Given the description of an element on the screen output the (x, y) to click on. 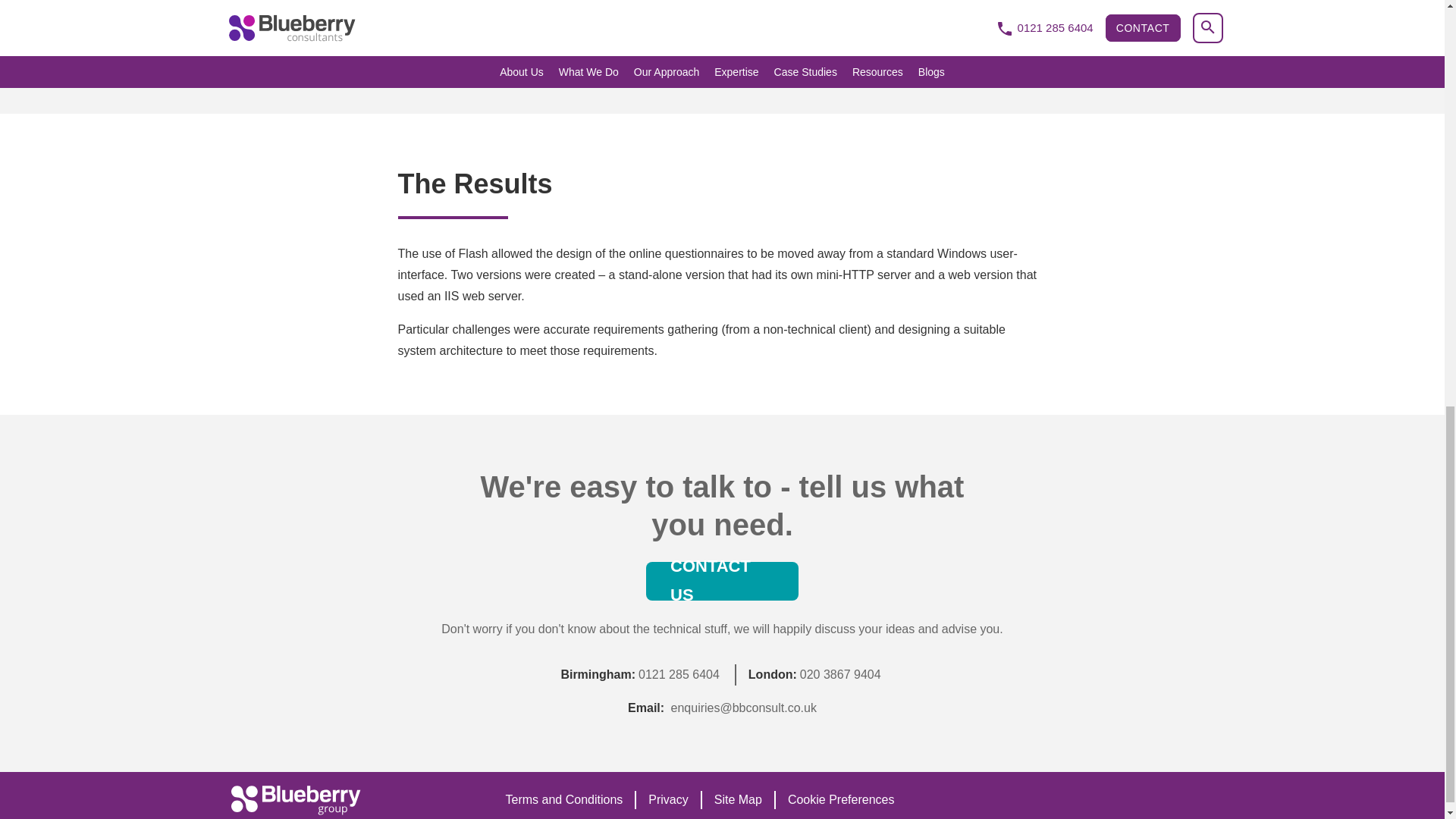
Contact Number (839, 674)
Terms and Conditions (563, 800)
CONTACT US (721, 580)
Contact Number (679, 674)
Feel free to email us. (743, 707)
Click for more (737, 800)
Privacy (667, 800)
